Given the description of an element on the screen output the (x, y) to click on. 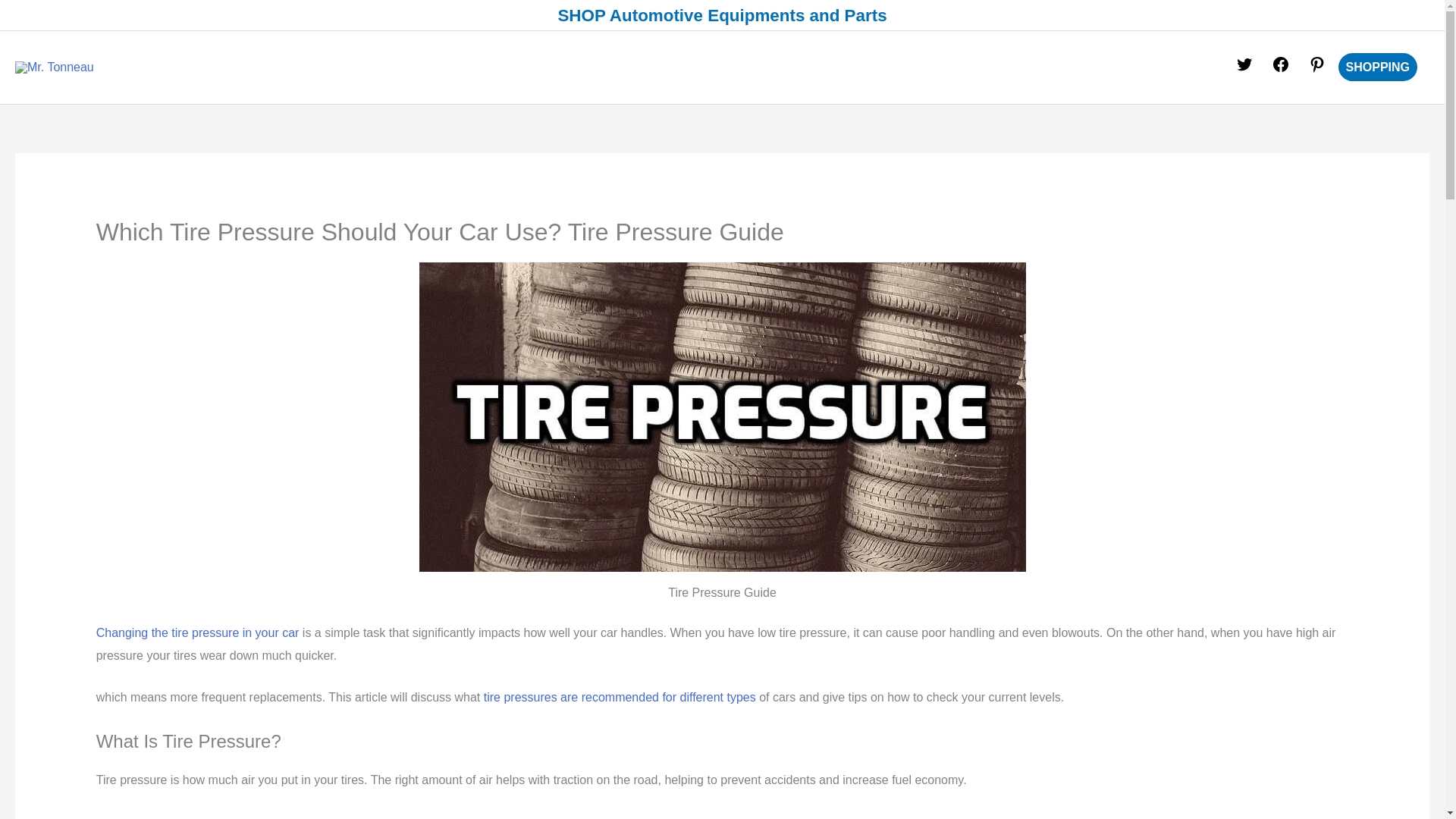
Tonneau Cover (742, 67)
SHOP Automotive Equipments and Parts (721, 15)
FORUM (1009, 67)
Account (1176, 67)
Tire types explained (619, 697)
Category (932, 67)
When To Change Tires On Car (197, 632)
Contact Us (1090, 67)
Lubricants (845, 67)
